Given the description of an element on the screen output the (x, y) to click on. 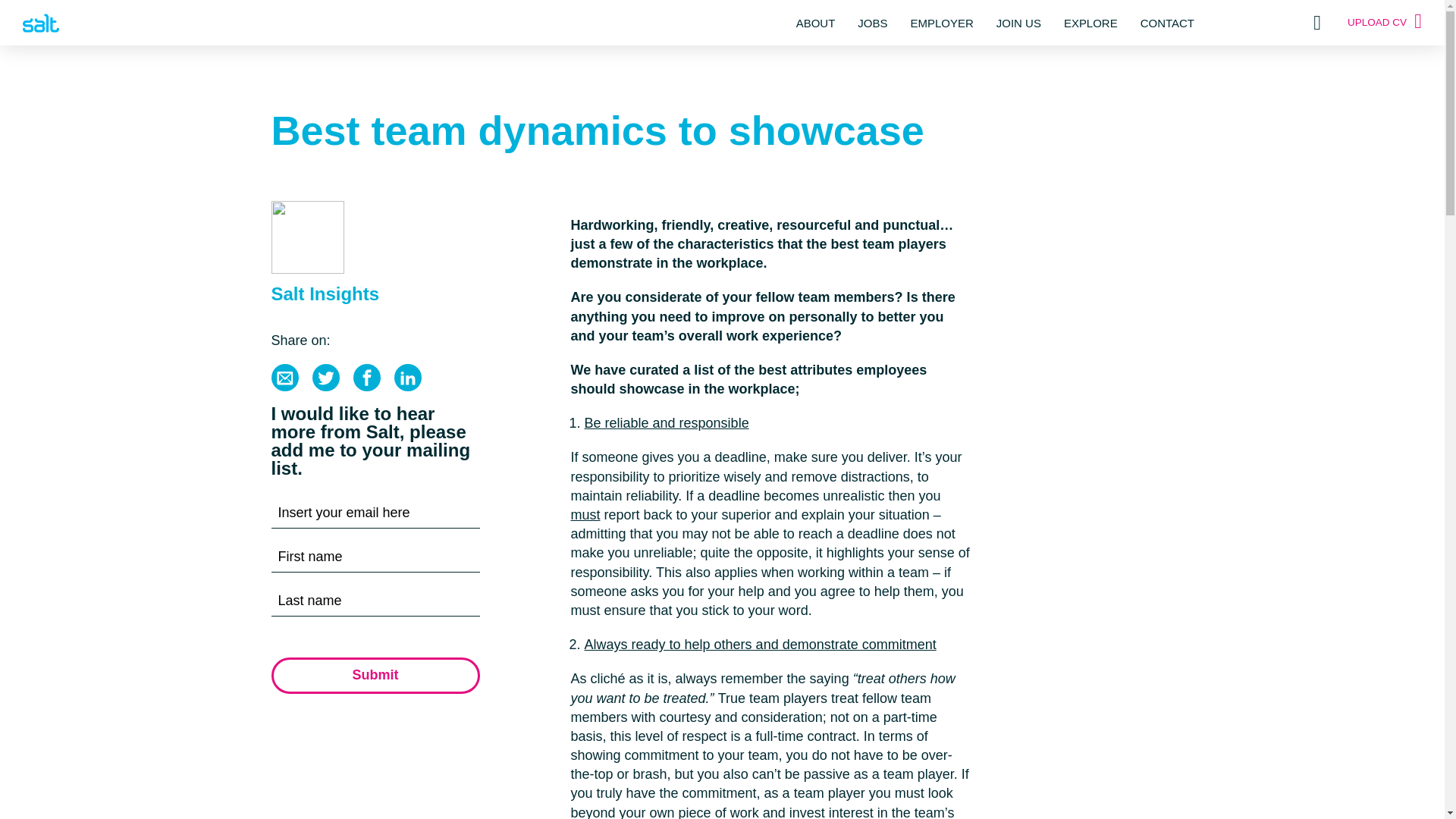
CONTACT (1166, 21)
EMPLOYER (941, 21)
Salt Insights (325, 294)
UPLOAD CV (1385, 22)
Submit (375, 674)
ABOUT (815, 21)
Select a region (1314, 22)
JOBS (871, 21)
Twitter (326, 377)
EXPLORE (1091, 21)
Facebook (366, 377)
Email (284, 377)
JOIN US (1018, 21)
Upload CV (1385, 22)
